Given the description of an element on the screen output the (x, y) to click on. 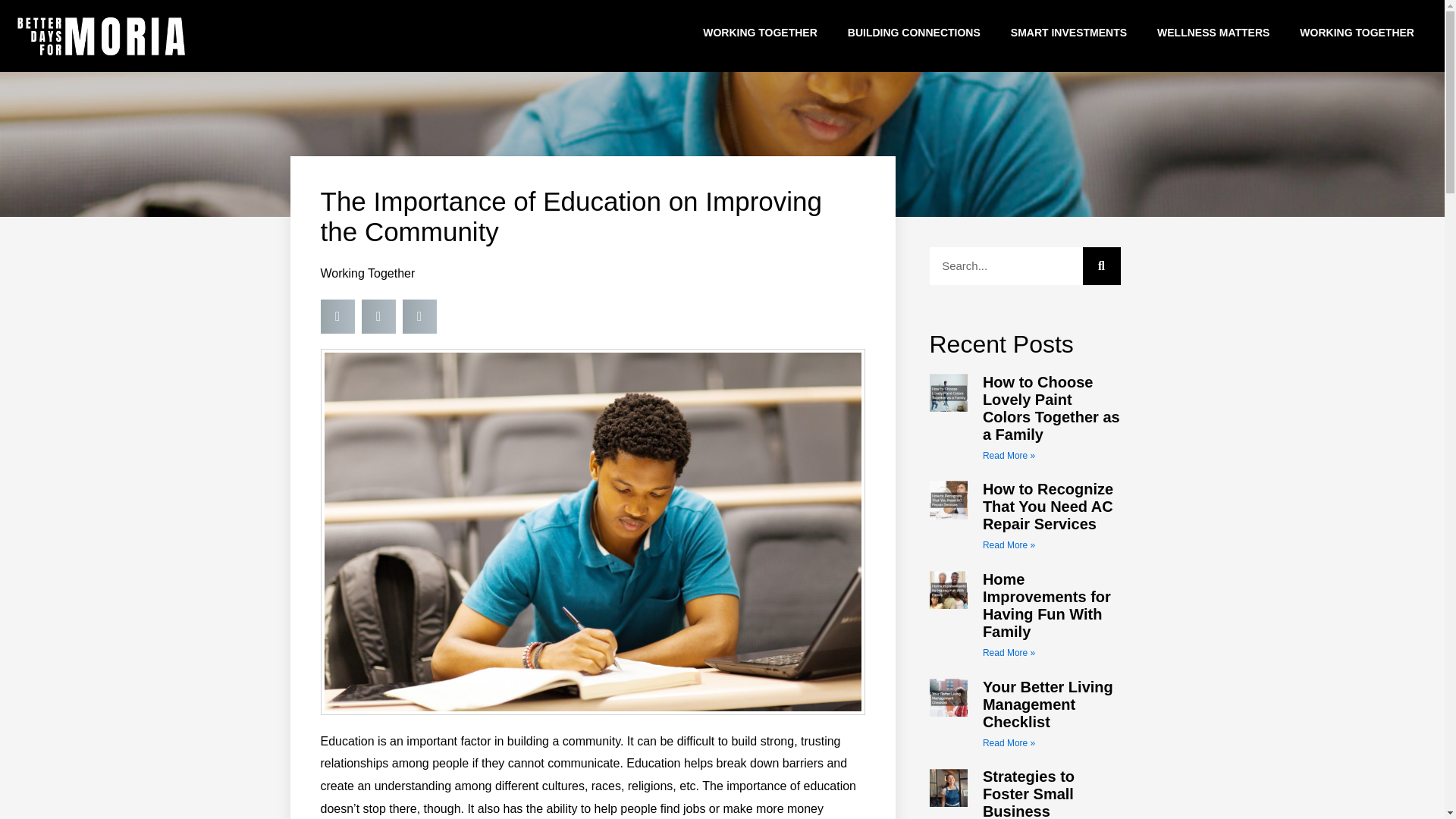
Working Together (367, 273)
Your Better Living Management Checklist (1047, 704)
WORKING TOGETHER (759, 32)
SMART INVESTMENTS (1068, 32)
WORKING TOGETHER (1356, 32)
How to Choose Lovely Paint Colors Together as a Family (1050, 408)
WELLNESS MATTERS (1212, 32)
Home Improvements for Having Fun With Family (1046, 604)
BUILDING CONNECTIONS (913, 32)
Search (1102, 266)
How to Recognize That You Need AC Repair Services (1047, 506)
